Given the description of an element on the screen output the (x, y) to click on. 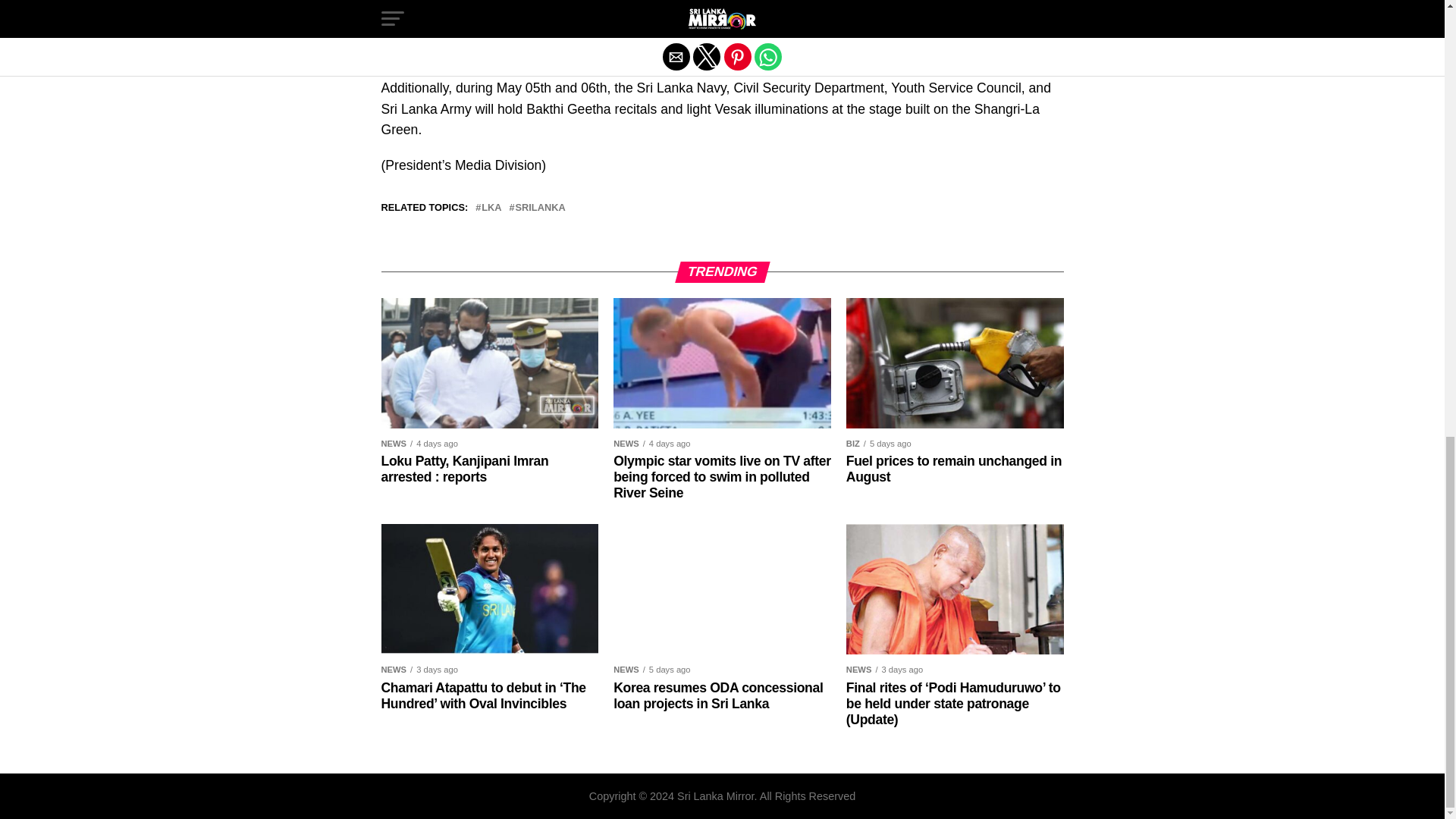
LKA (490, 207)
SRILANKA (540, 207)
